Given the description of an element on the screen output the (x, y) to click on. 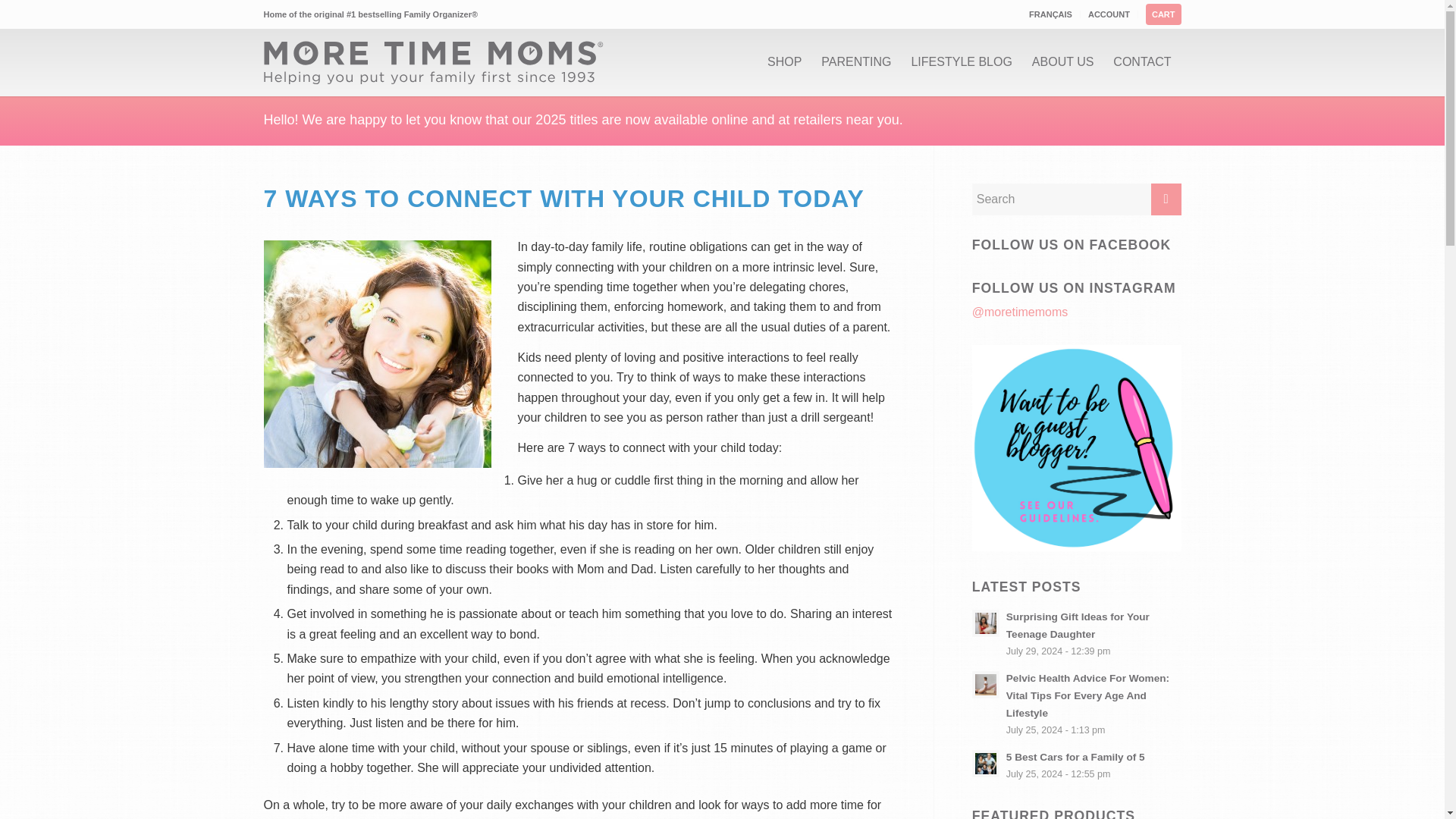
Read: 5 Best Cars for a Family of 5 (985, 763)
CART (1162, 14)
Read: 5 Best Cars for a Family of 5 (1075, 756)
PARENTING (855, 61)
CONTACT (1141, 61)
ABOUT US (1062, 61)
LIFESTYLE BLOG (961, 61)
Read: Surprising Gift Ideas for Your Teenage Daughter (985, 623)
ACCOUNT (1108, 14)
Read: Surprising Gift Ideas for Your Teenage Daughter (1078, 624)
